Given the description of an element on the screen output the (x, y) to click on. 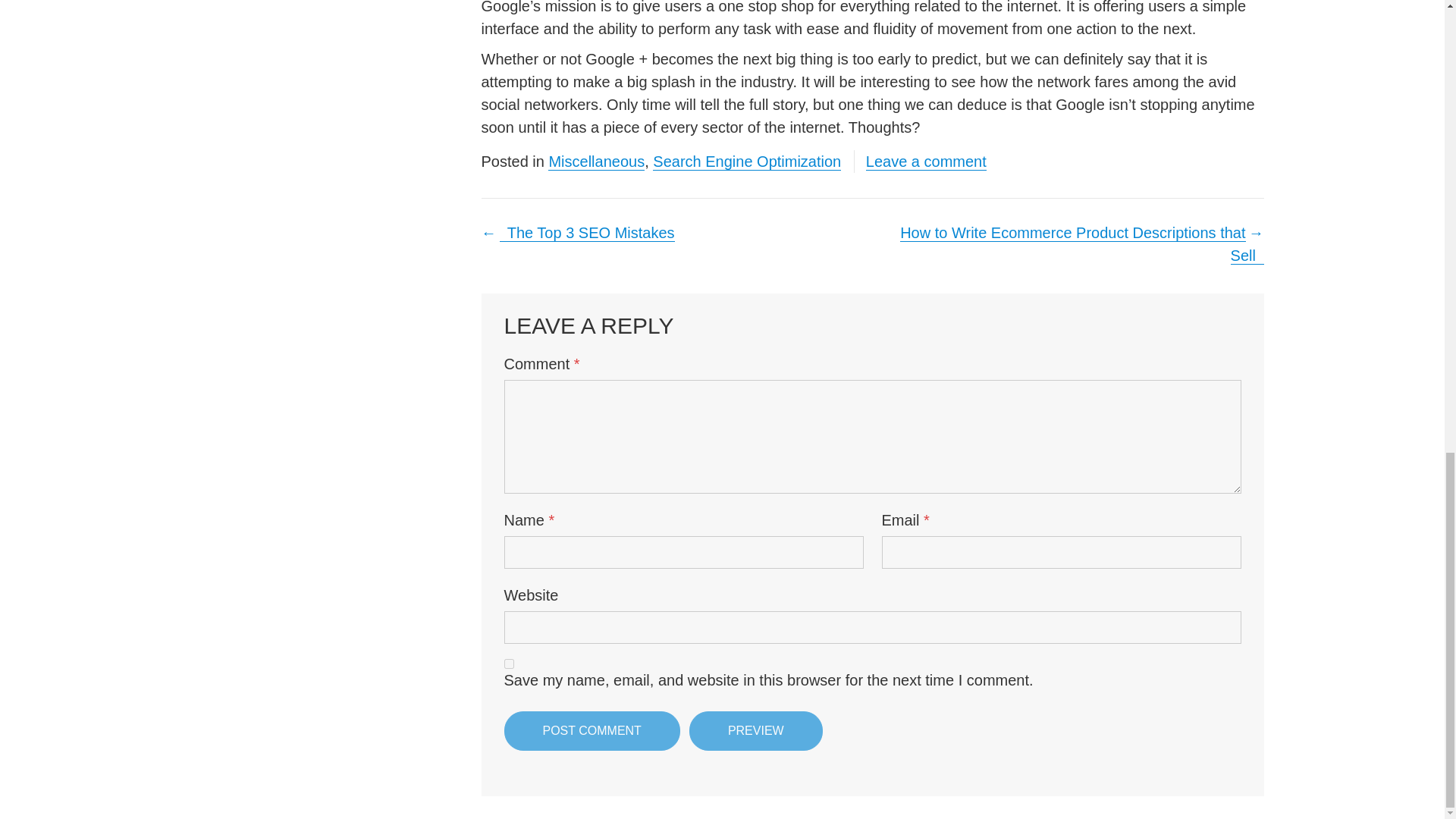
yes (508, 664)
Post Comment (591, 731)
Preview (755, 731)
